Given the description of an element on the screen output the (x, y) to click on. 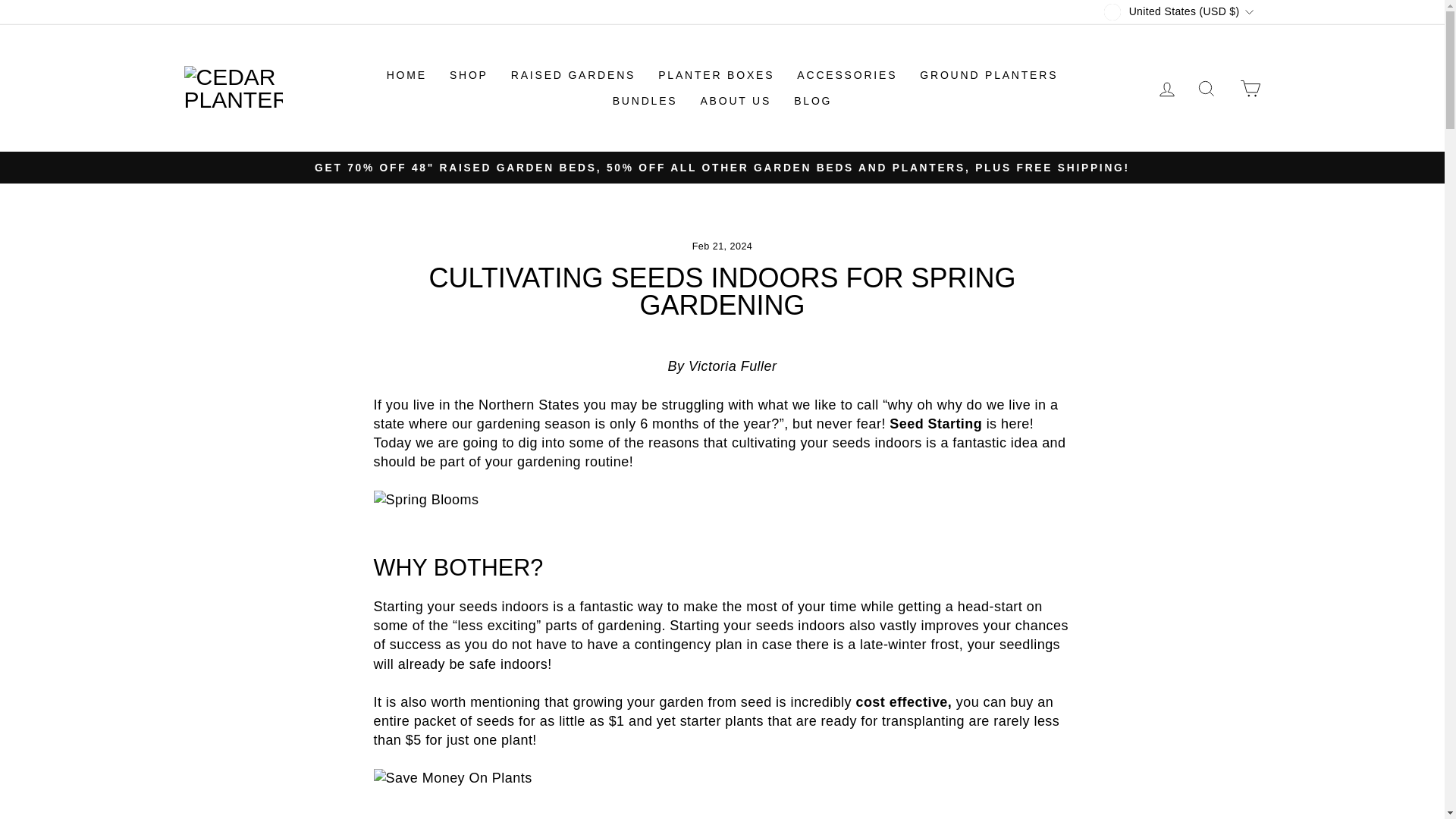
BLOG (813, 101)
CART (1249, 88)
ACCESSORIES (847, 75)
BUNDLES (644, 101)
HOME (406, 75)
GROUND PLANTERS (988, 75)
SHOP (468, 75)
SEARCH (1205, 88)
LOG IN (1166, 88)
RAISED GARDENS (572, 75)
PLANTER BOXES (716, 75)
ABOUT US (735, 101)
